Given the description of an element on the screen output the (x, y) to click on. 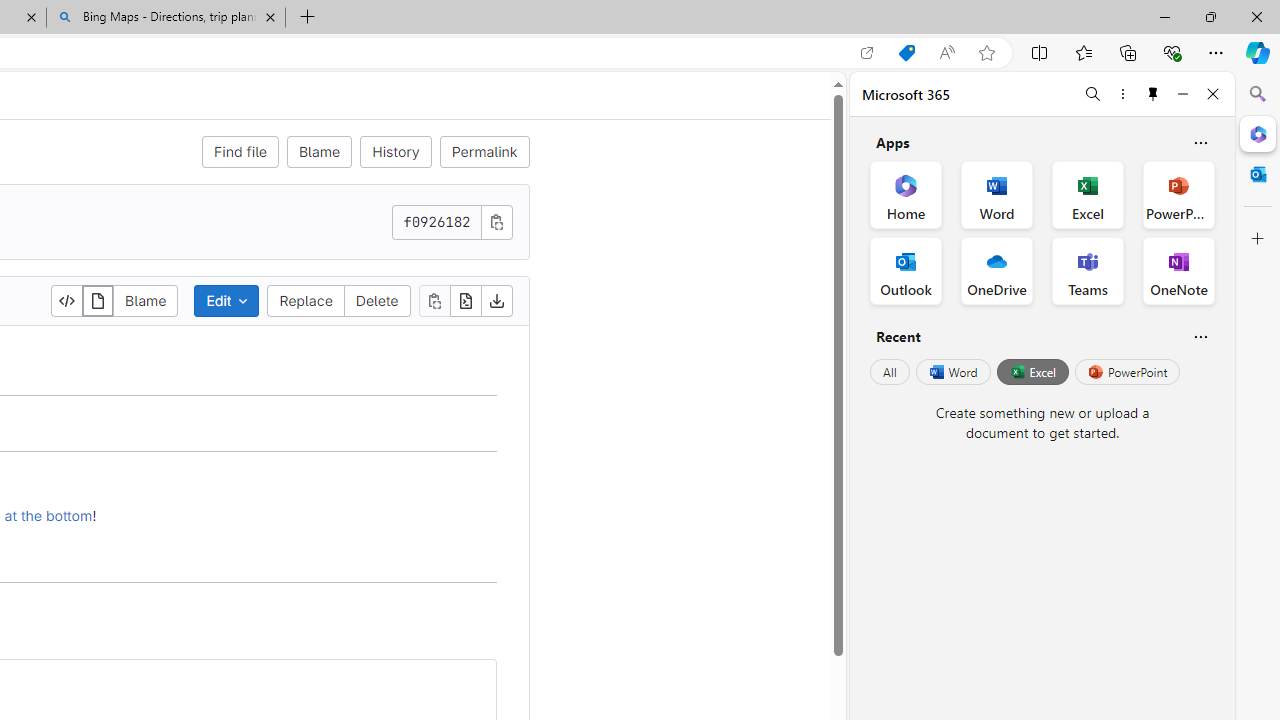
OneNote Office App (1178, 270)
Word (952, 372)
Blame (319, 151)
Display source (67, 300)
History (395, 151)
Excel Office App (1087, 194)
PowerPoint (1127, 372)
Edit (226, 300)
